Given the description of an element on the screen output the (x, y) to click on. 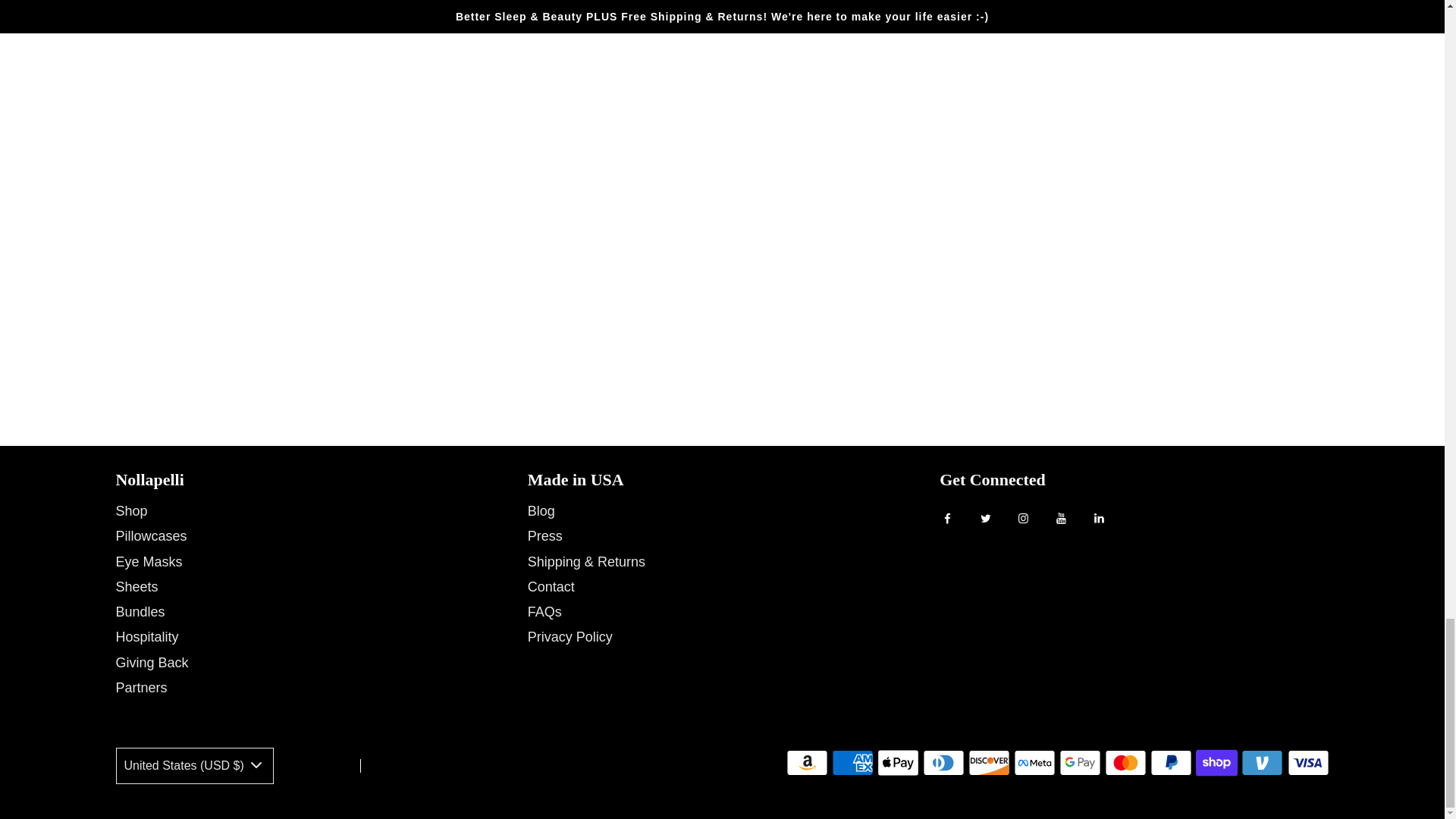
Shop Pay (1216, 762)
PayPal (1171, 762)
Diners Club (943, 762)
Venmo (1261, 762)
Discover (989, 762)
Apple Pay (897, 762)
Amazon (807, 762)
Mastercard (1126, 762)
Meta Pay (1034, 762)
Google Pay (1079, 762)
